Given the description of an element on the screen output the (x, y) to click on. 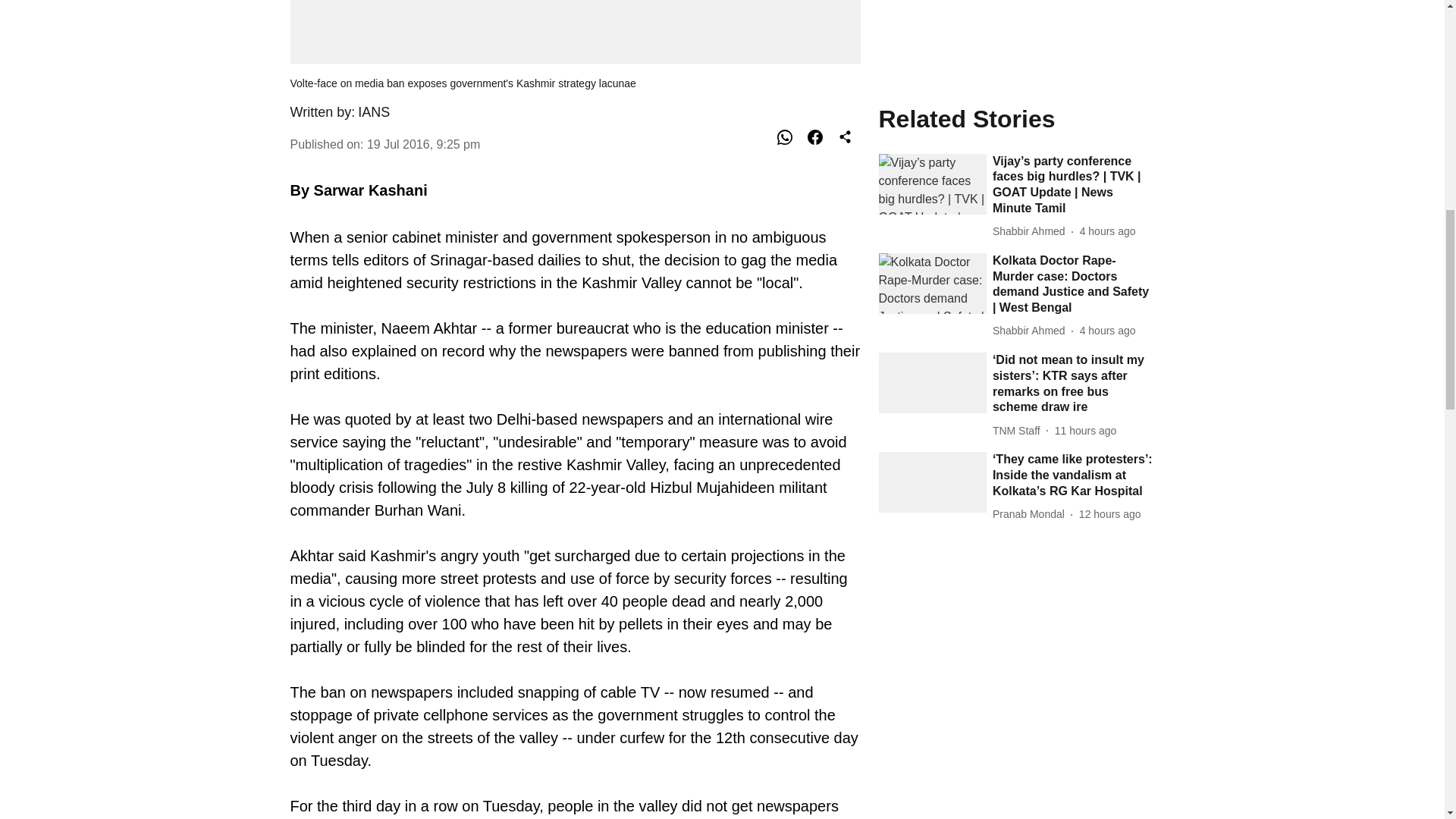
2016-07-19 13:25 (423, 144)
2024-08-16 14:08 (1085, 78)
IANS (374, 111)
2024-08-16 13:10 (1109, 162)
